Given the description of an element on the screen output the (x, y) to click on. 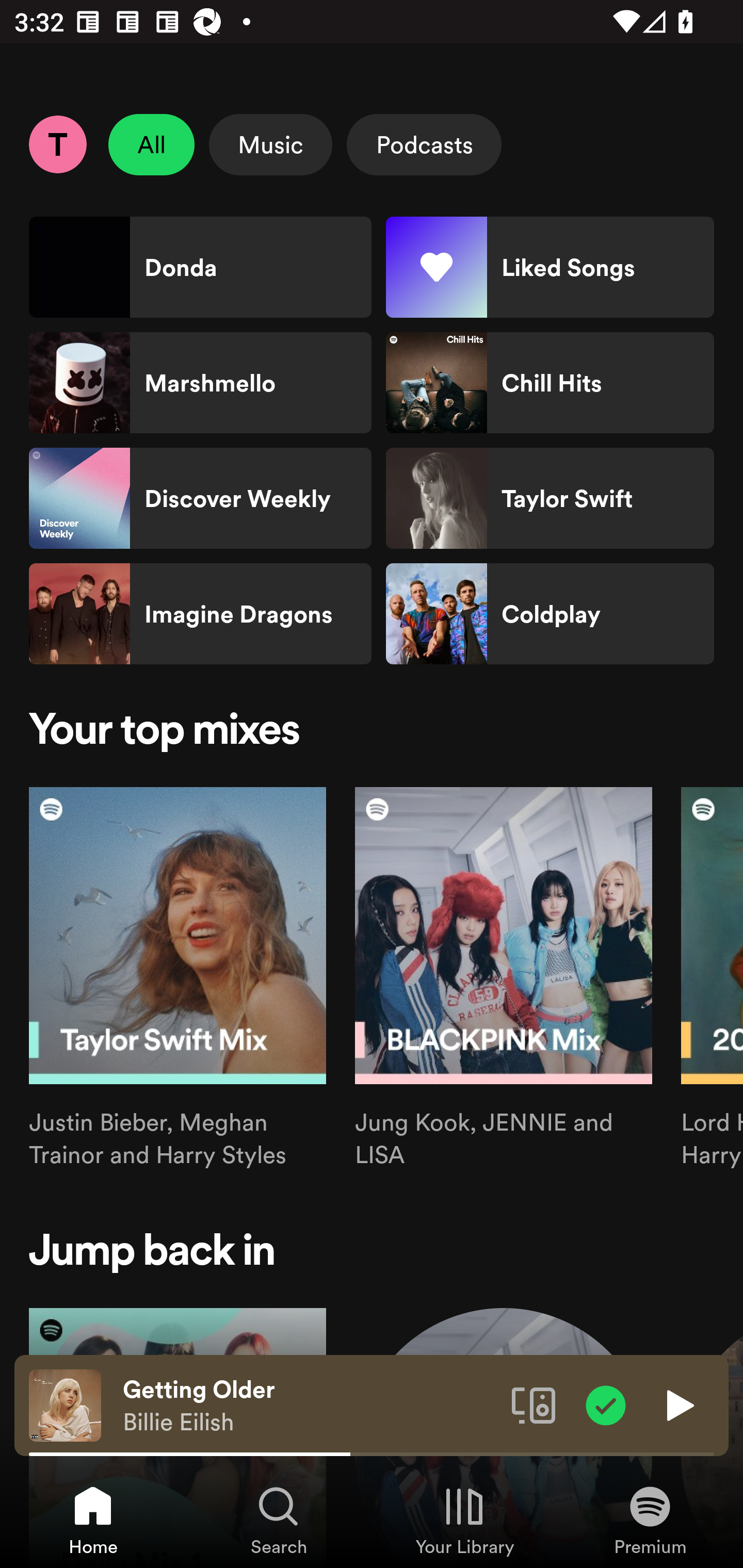
Profile (57, 144)
All Unselect All (151, 144)
Music Select Music (270, 144)
Podcasts Select Podcasts (423, 144)
Donda Shortcut Donda (199, 267)
Liked Songs Shortcut Liked Songs (549, 267)
Marshmello Shortcut Marshmello (199, 382)
Chill Hits Shortcut Chill Hits (549, 382)
Discover Weekly Shortcut Discover Weekly (199, 498)
Taylor Swift Shortcut Taylor Swift (549, 498)
Imagine Dragons Shortcut Imagine Dragons (199, 613)
Coldplay Shortcut Coldplay (549, 613)
Getting Older Billie Eilish (309, 1405)
The cover art of the currently playing track (64, 1404)
Connect to a device. Opens the devices menu (533, 1404)
Item added (605, 1404)
Play (677, 1404)
